Given the description of an element on the screen output the (x, y) to click on. 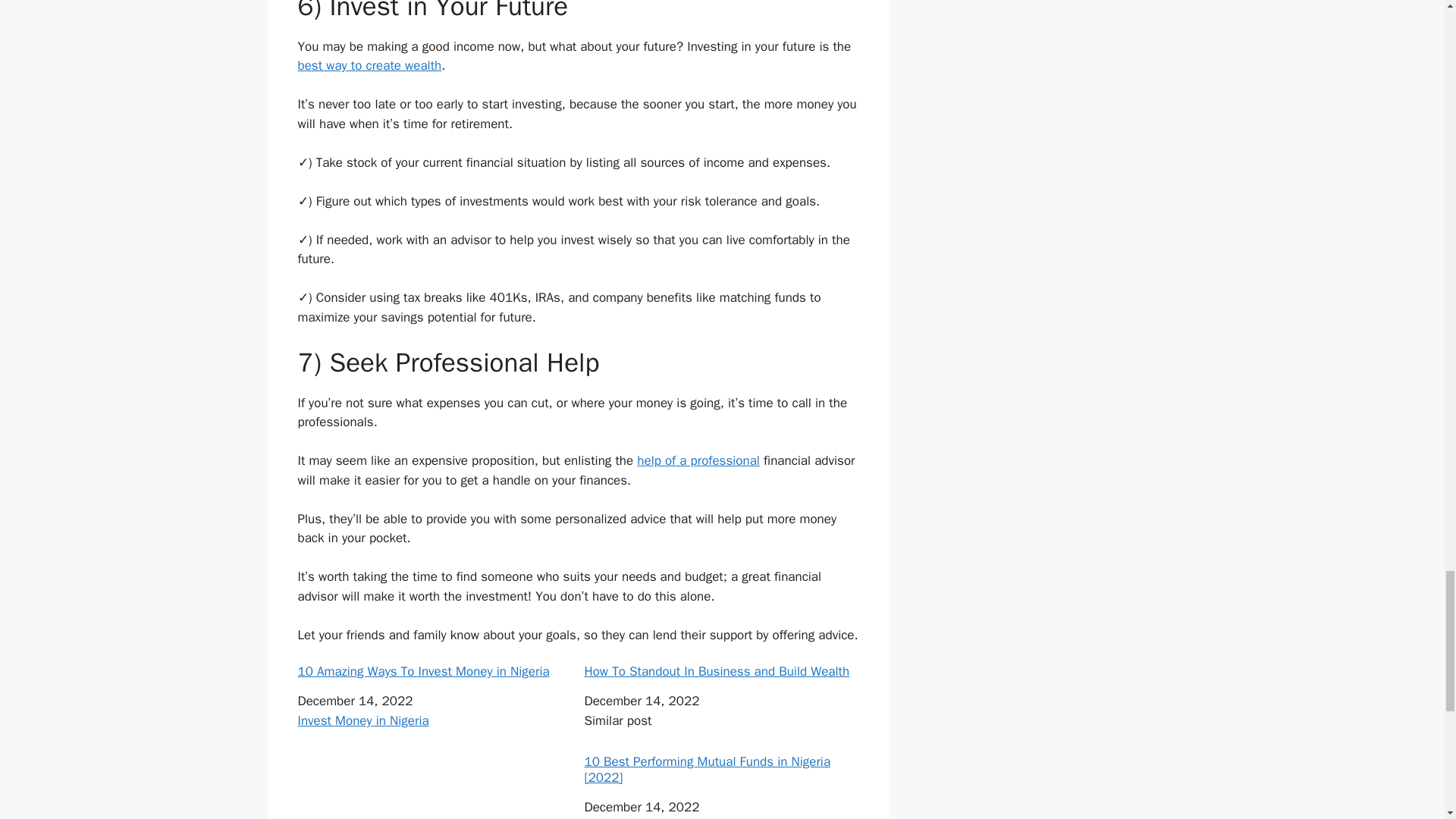
help of a professional (698, 460)
How To Standout In Business and Build Wealth (721, 671)
Invest Money in Nigeria (362, 720)
best way to create wealth (369, 65)
10 Amazing Ways To Invest Money in Nigeria (434, 671)
